Given the description of an element on the screen output the (x, y) to click on. 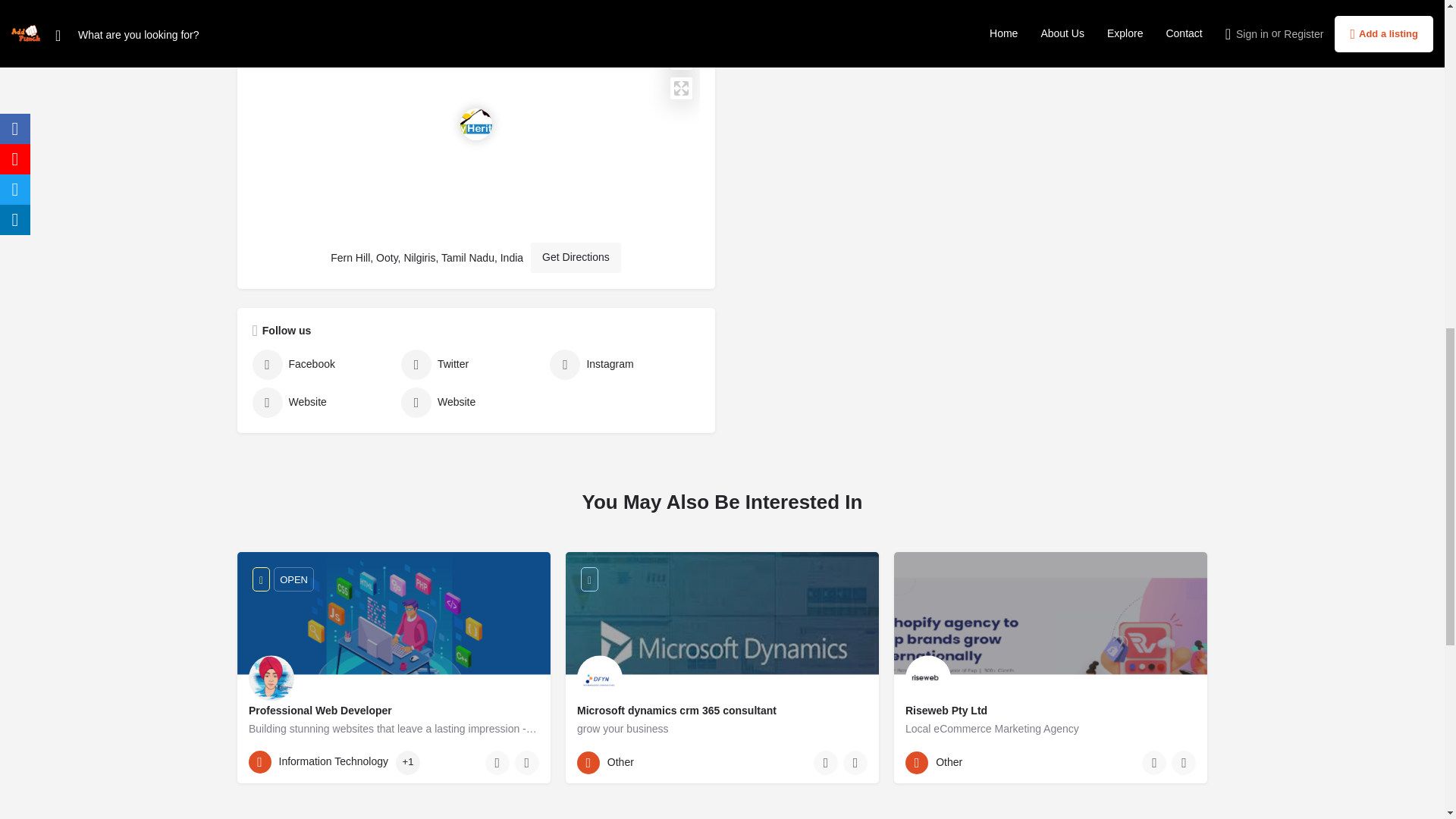
Zoom in (681, 36)
Enter fullscreen (681, 87)
Get Directions (576, 257)
Zoom out (681, 58)
Facebook (322, 364)
